Given the description of an element on the screen output the (x, y) to click on. 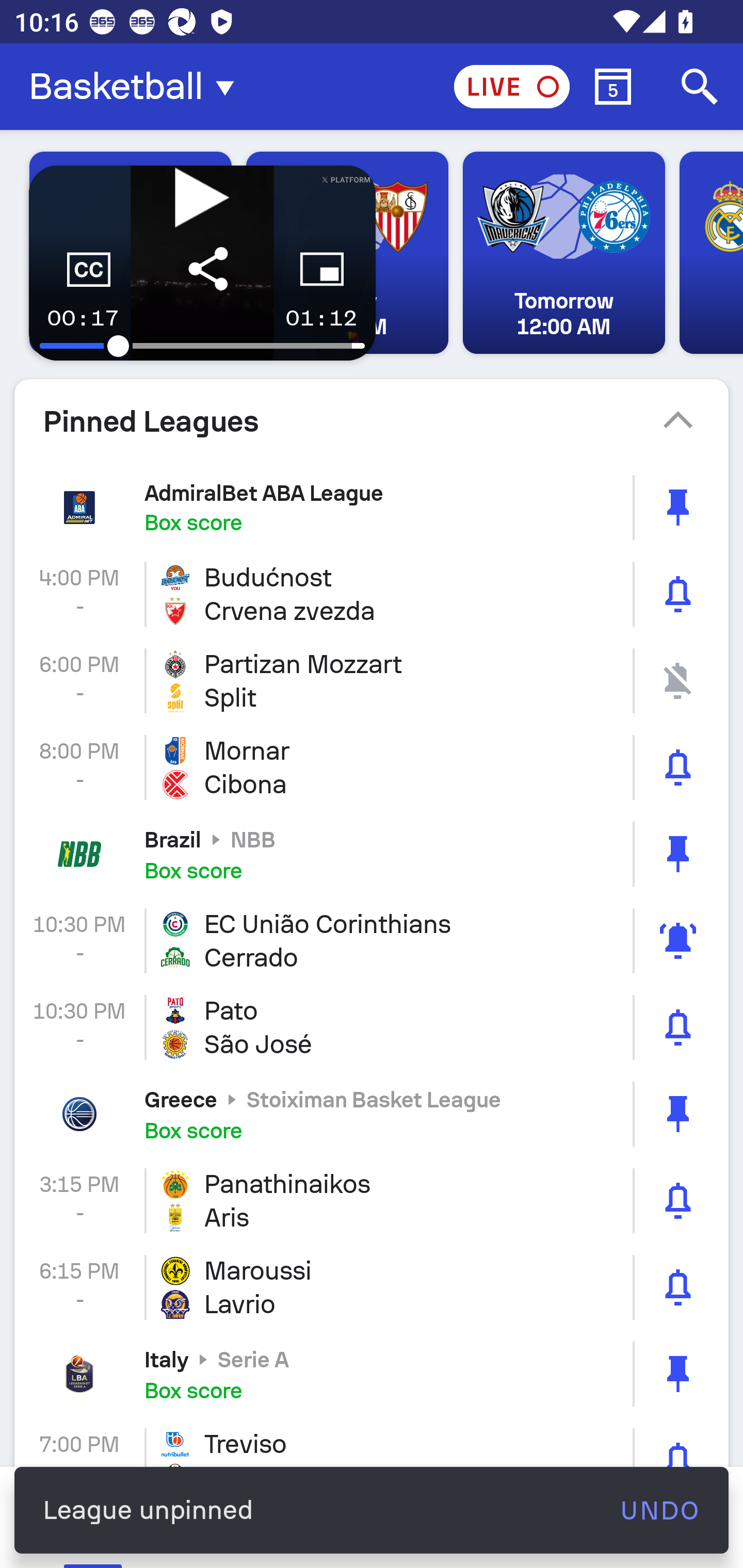
Basketball (137, 86)
Calendar (612, 86)
Search (699, 86)
Tomorrow
12:00 AM (563, 253)
Pinned Leagues (371, 421)
AdmiralBet ABA League Box score (371, 507)
4:00 PM - Budućnost Crvena zvezda (371, 594)
6:00 PM - Partizan Mozzart Split (371, 681)
8:00 PM - Mornar Cibona (371, 767)
Brazil NBB Box score (371, 853)
10:30 PM - EC União Corinthians Cerrado (371, 940)
10:30 PM - Pato São José (371, 1027)
Greece Stoiximan Basket League Box score (371, 1113)
3:15 PM - Panathinaikos Aris (371, 1200)
6:15 PM - Maroussi Lavrio (371, 1287)
Italy Serie A Box score (371, 1374)
7:00 PM - Treviso V. Bologna (371, 1442)
UNDO (659, 1510)
